Given the description of an element on the screen output the (x, y) to click on. 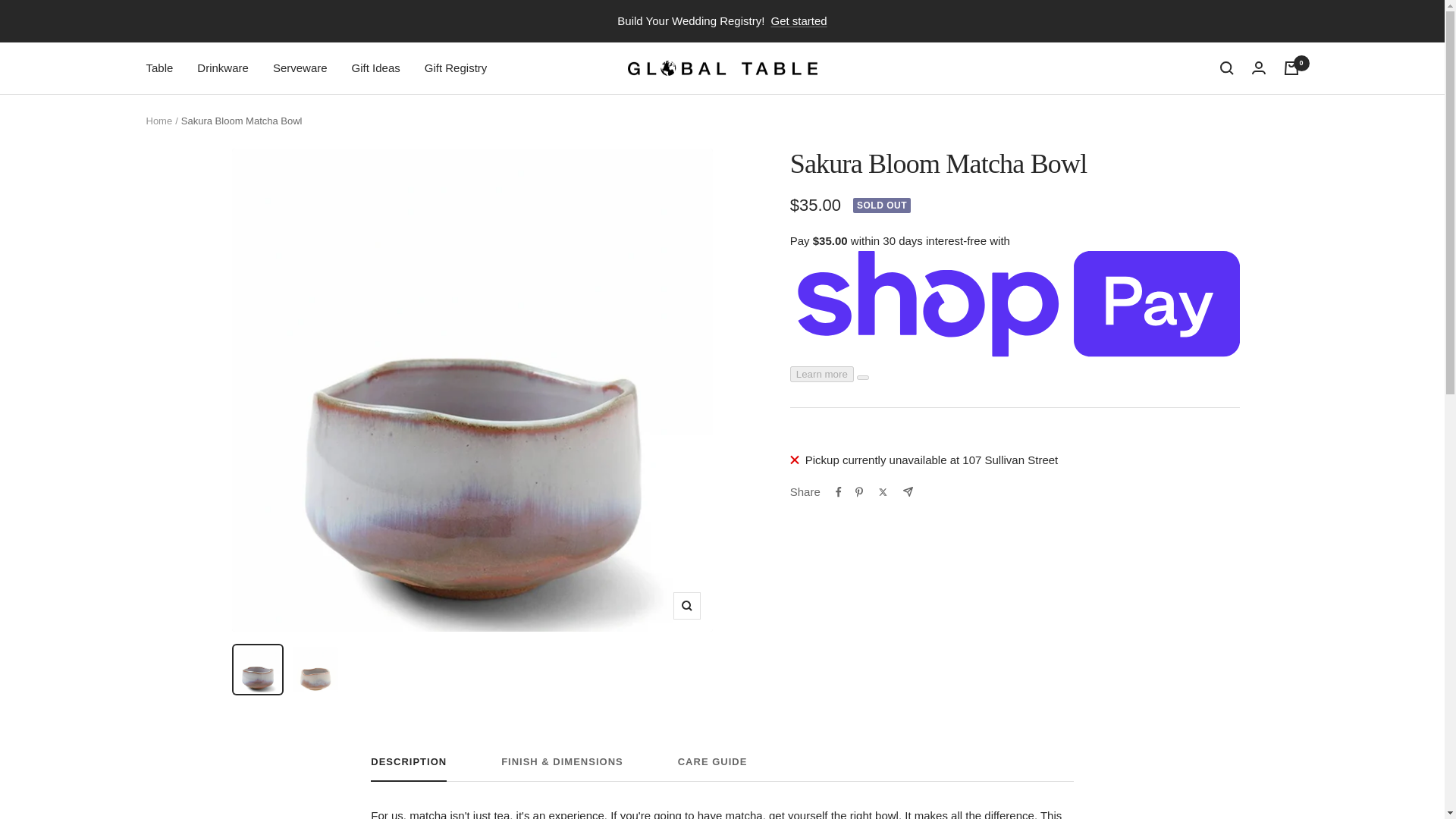
Home (158, 120)
Gift Ideas (376, 67)
Get started (798, 21)
Gift Registry (456, 67)
Drinkware (222, 67)
0 (1290, 68)
Serveware (300, 67)
Zoom (686, 605)
Global Table (721, 68)
Table (159, 67)
